Given the description of an element on the screen output the (x, y) to click on. 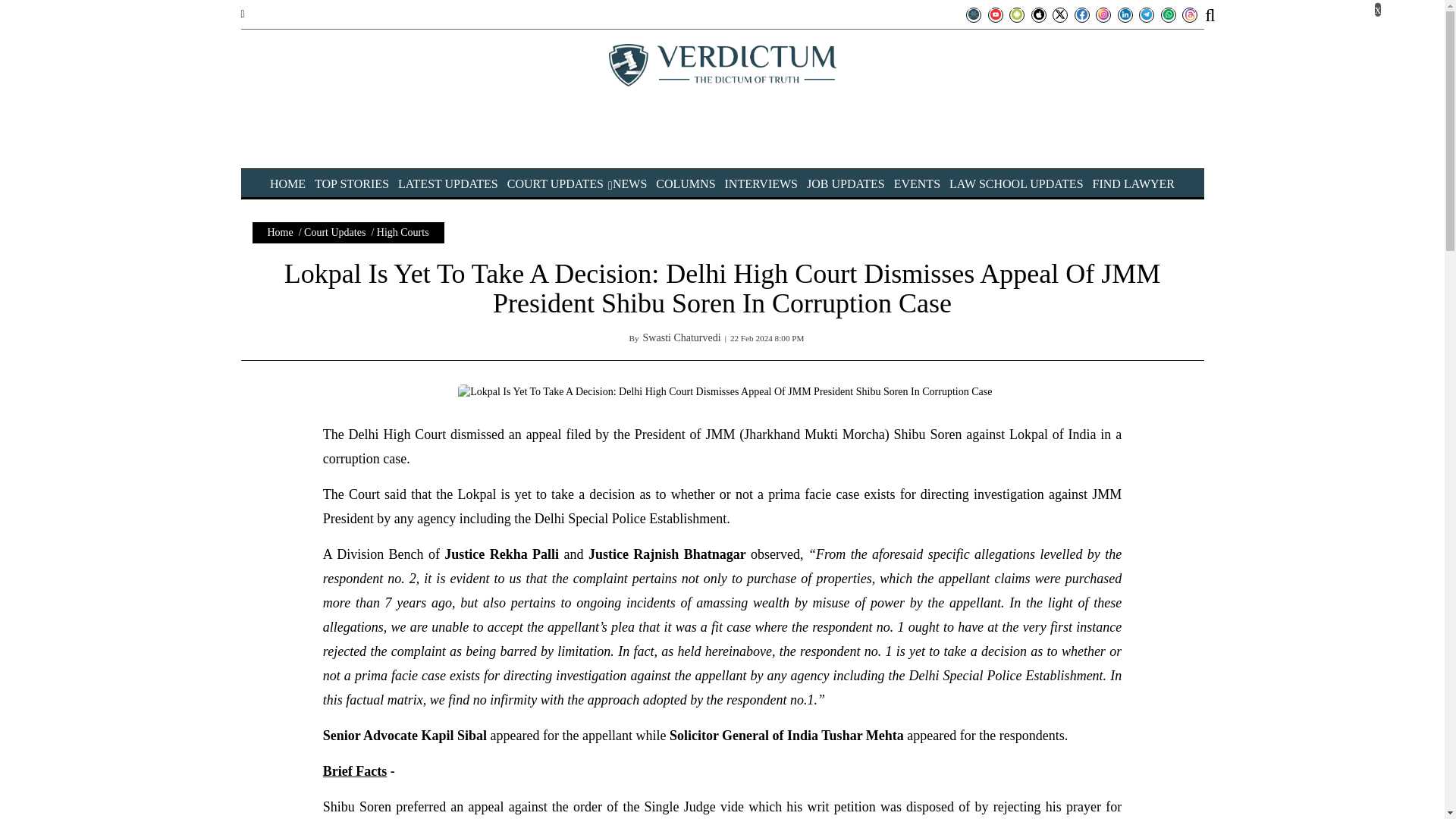
LATEST UPDATES (447, 183)
INTERVIEWS (761, 183)
EVENTS (916, 183)
NEWS (629, 183)
JOB UPDATES (845, 183)
HOME (287, 183)
Verdictum (721, 65)
COURT UPDATES (555, 183)
COLUMNS (685, 183)
